Given the description of an element on the screen output the (x, y) to click on. 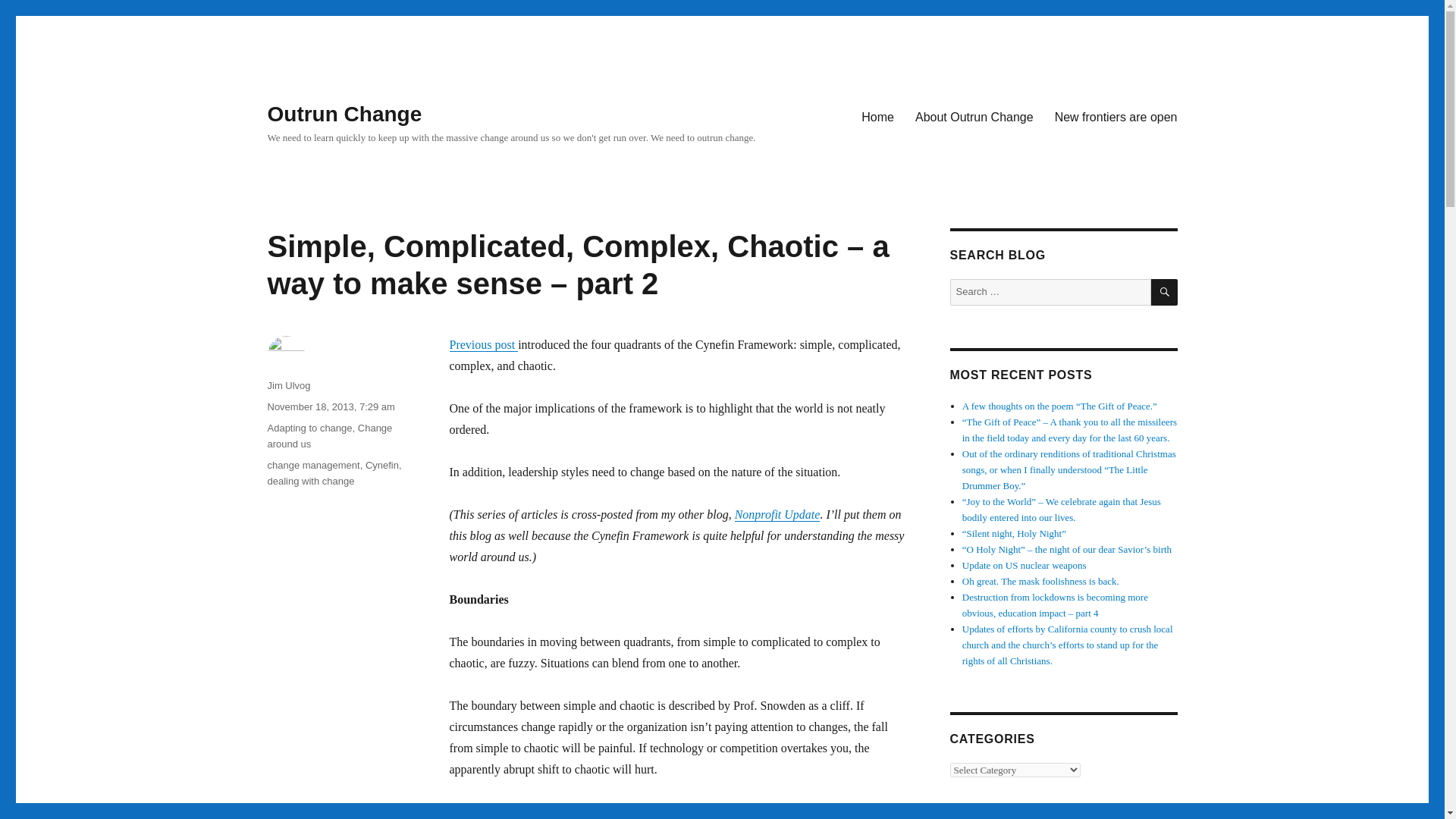
SEARCH (1164, 292)
Jim Ulvog (288, 385)
Home (877, 116)
New frontiers are open (1115, 116)
Cynefin (381, 464)
Change around us (328, 435)
Update on US nuclear weapons (1024, 564)
Adapting to change (309, 428)
Oh great. The mask foolishness is back. (1040, 581)
change management (312, 464)
